Given the description of an element on the screen output the (x, y) to click on. 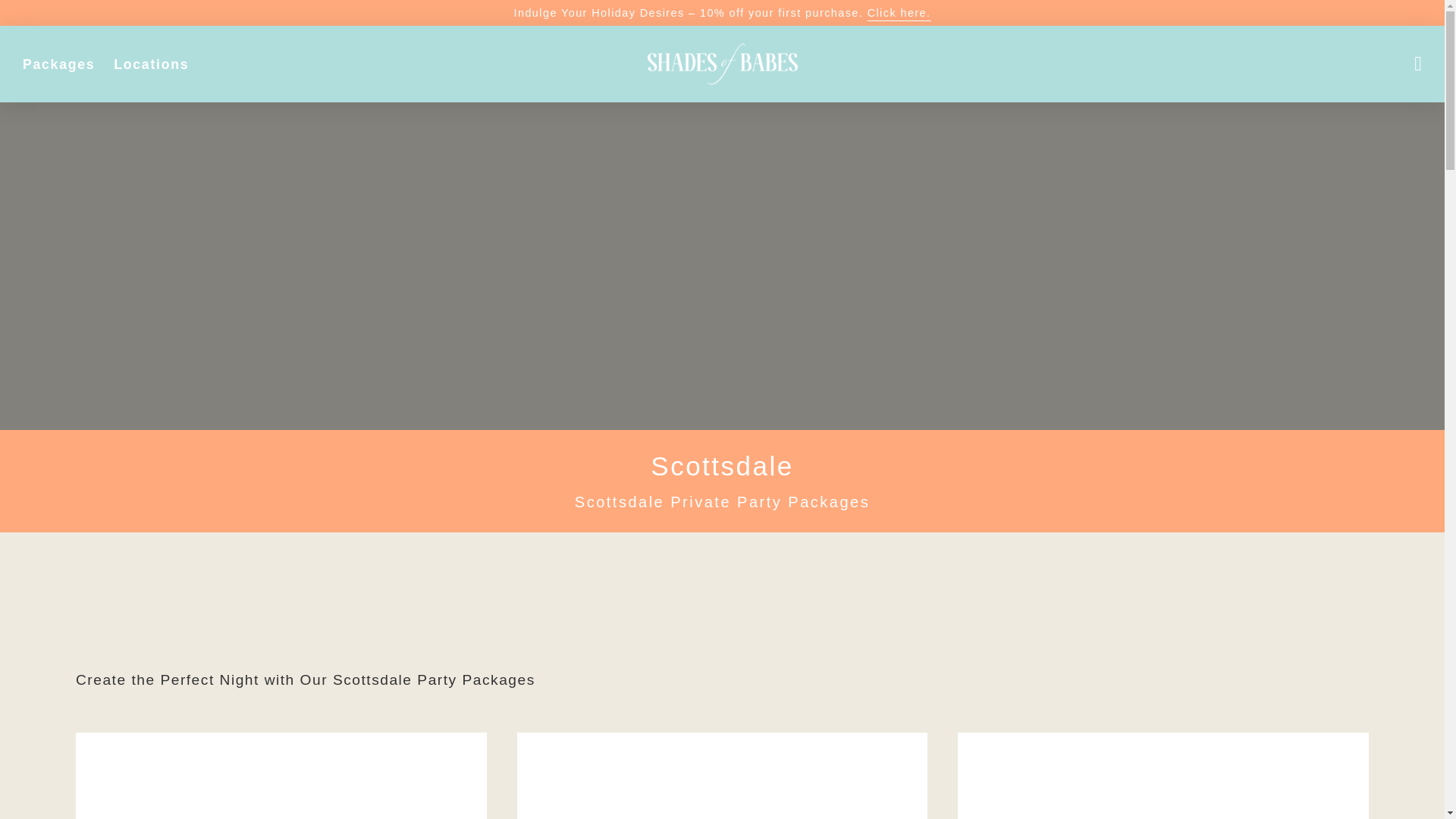
Click here. (899, 12)
Packages (58, 63)
Locations (151, 63)
